Given the description of an element on the screen output the (x, y) to click on. 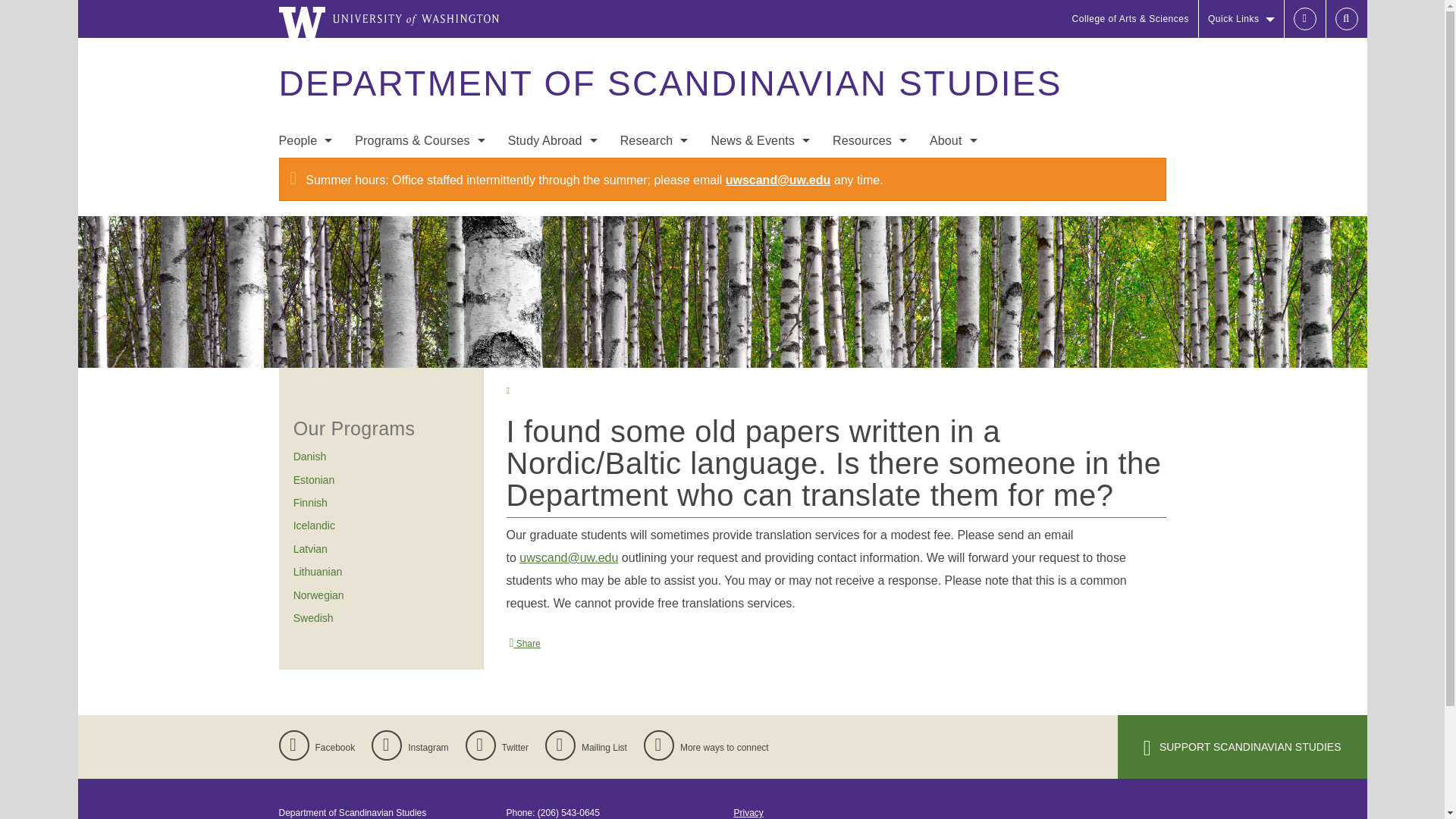
Graduate Students (304, 233)
UWNetID Login (1304, 18)
Alumni (304, 263)
Quick Links (1241, 18)
DEPARTMENT OF SCANDINAVIAN STUDIES (669, 83)
Undergraduate (419, 173)
Staff (304, 203)
Department of Scandinavian Studies Home (669, 83)
Faculty (304, 173)
